Given the description of an element on the screen output the (x, y) to click on. 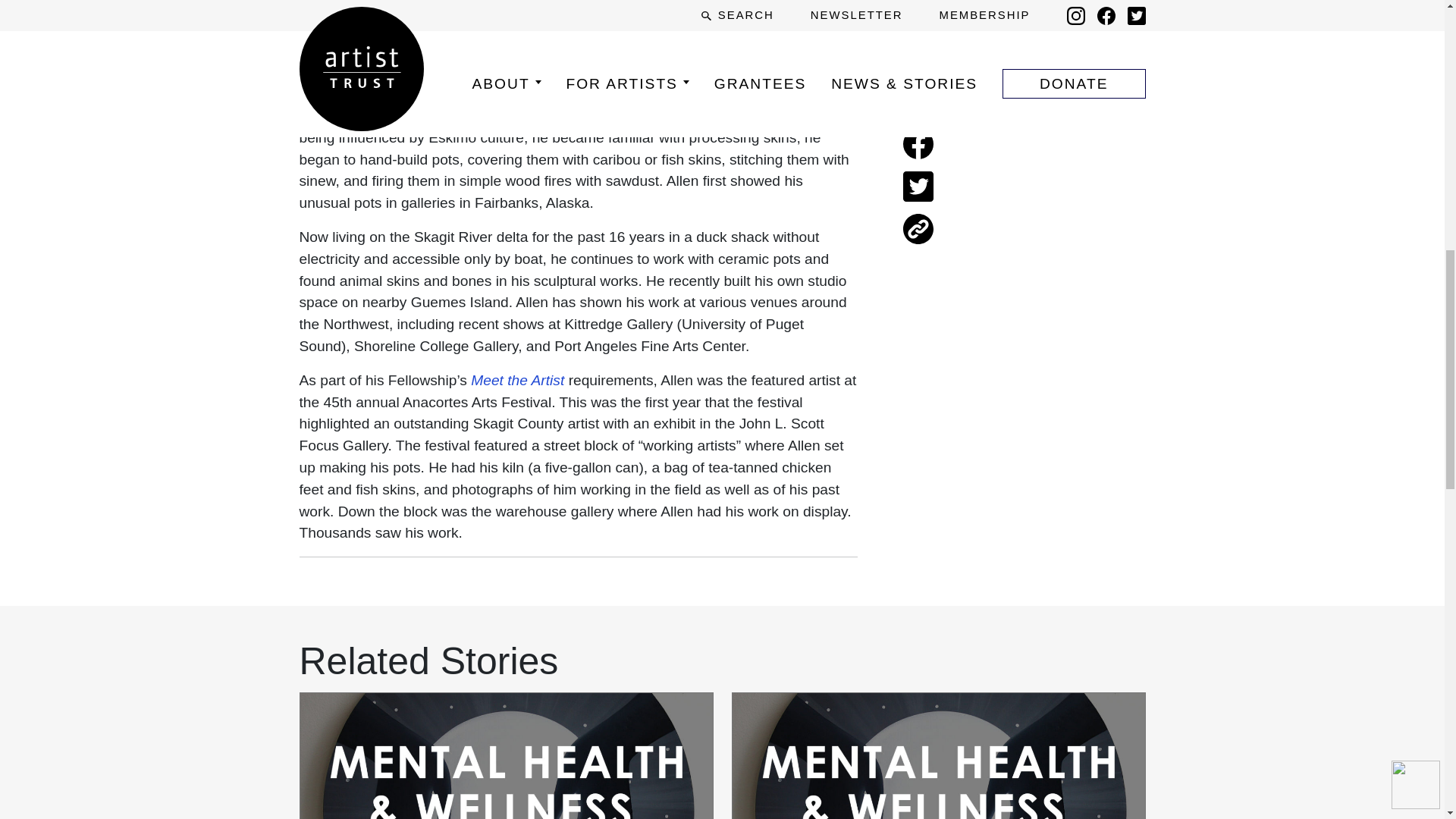
MentalHealthResourcesOctober (938, 755)
MentalHealthResourcesOctober (506, 755)
Meet the Artist (518, 380)
